Given the description of an element on the screen output the (x, y) to click on. 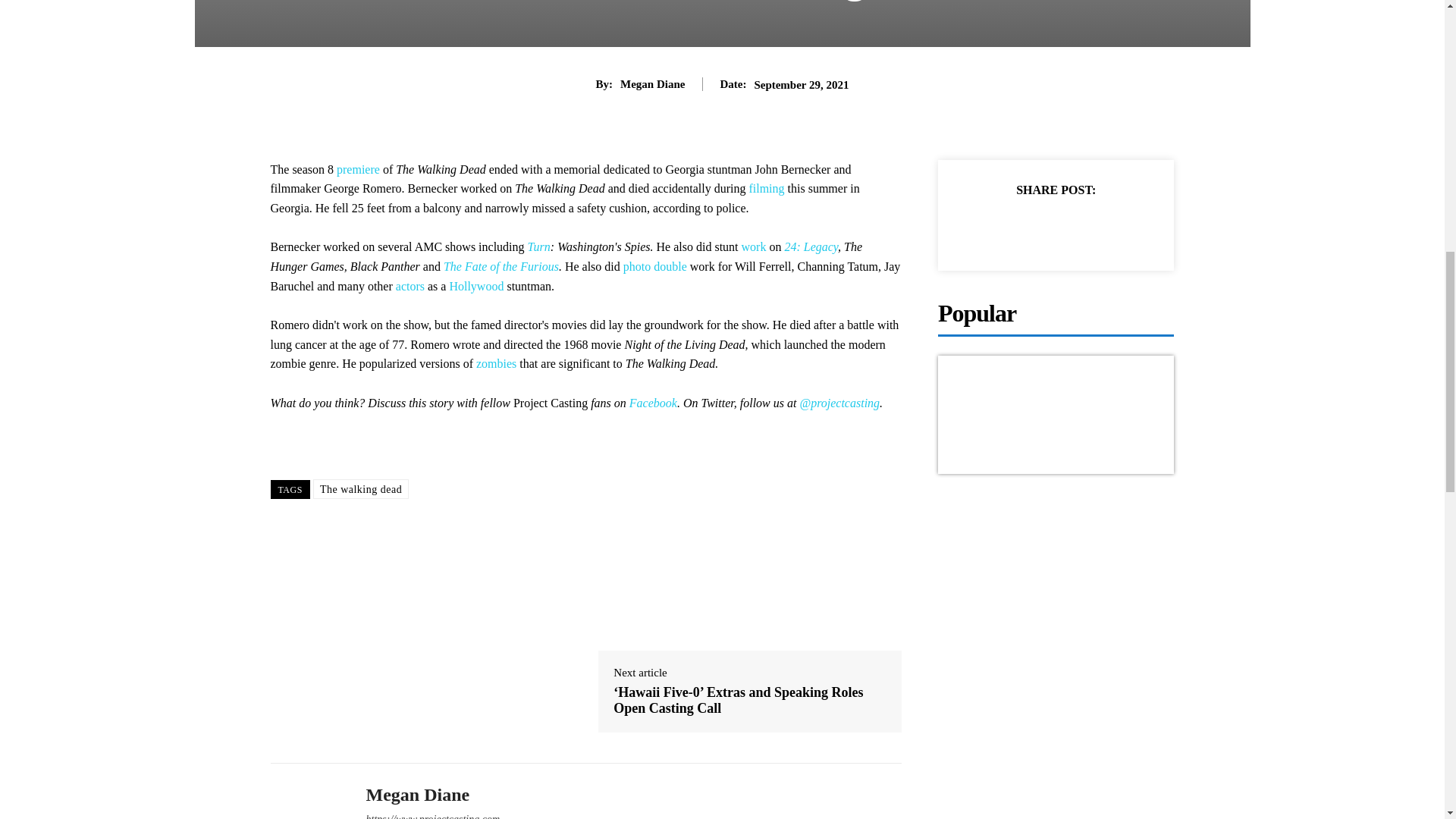
Posts tagged with Turn (538, 246)
Posts tagged with Premiere (358, 169)
Posts tagged with filming (766, 187)
Posts tagged with work (754, 246)
